Given the description of an element on the screen output the (x, y) to click on. 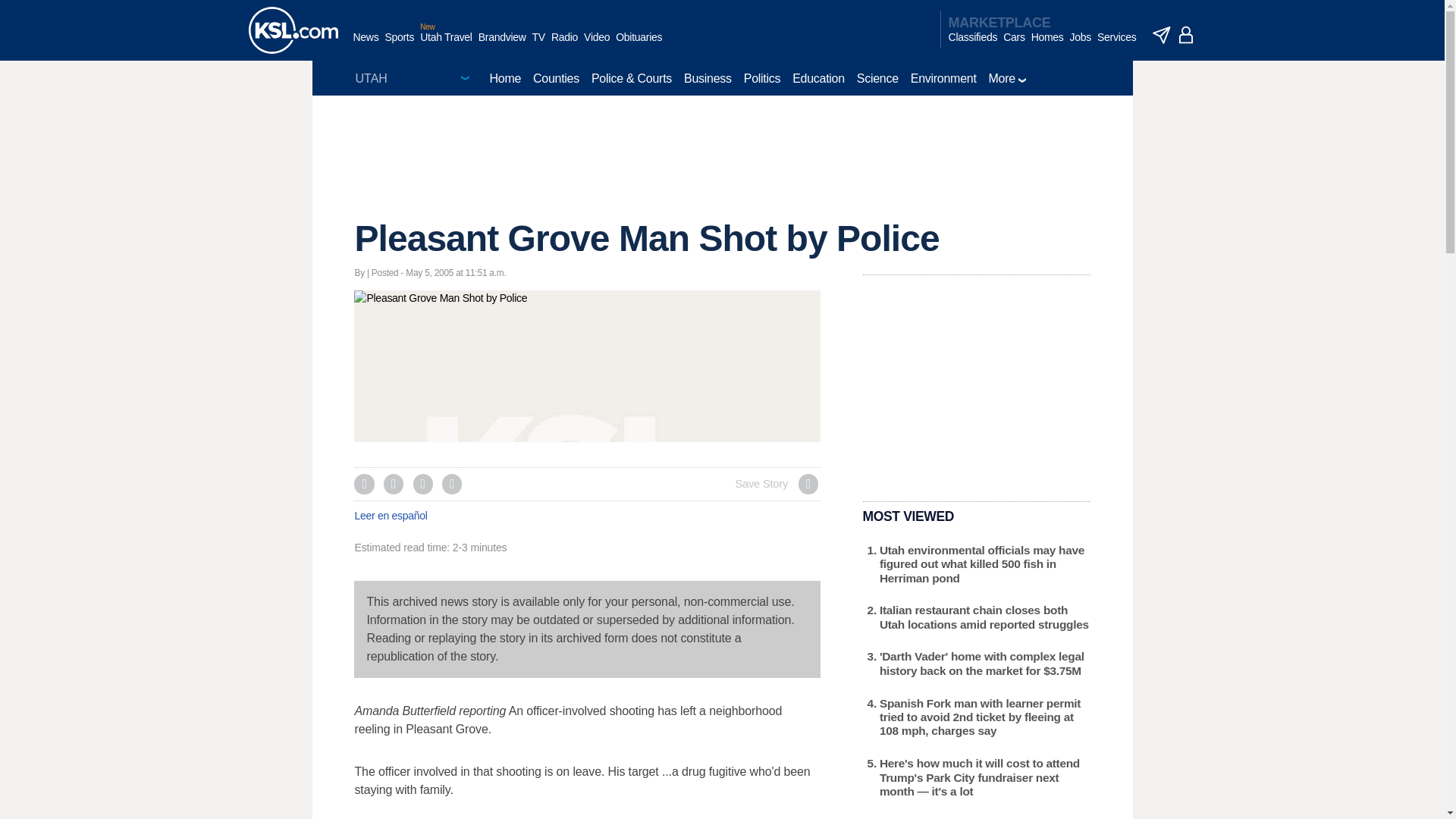
Brandview (502, 45)
Sports (398, 45)
Utah Travel (445, 45)
account - logged out (1185, 34)
KSL homepage (292, 29)
KSL homepage (292, 30)
